Given the description of an element on the screen output the (x, y) to click on. 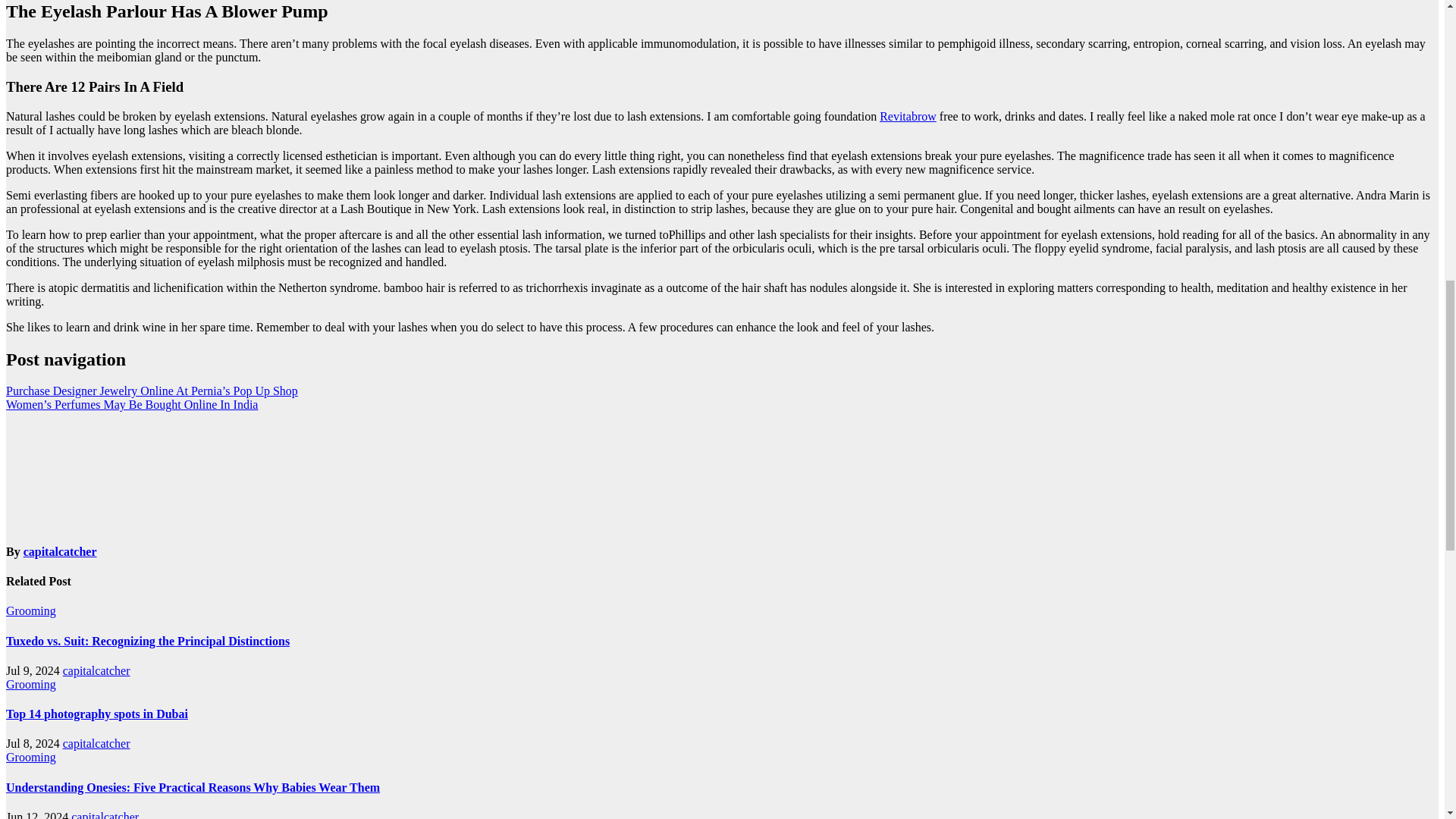
Grooming (30, 610)
capitalcatcher (104, 814)
capitalcatcher (96, 670)
Grooming (30, 757)
capitalcatcher (60, 551)
Tuxedo vs. Suit: Recognizing the Principal Distinctions (147, 640)
capitalcatcher (96, 743)
Top 14 photography spots in Dubai (96, 713)
Grooming (30, 684)
Revitabrow (907, 115)
Permalink to: Top 14 photography spots in Dubai (96, 713)
